Given the description of an element on the screen output the (x, y) to click on. 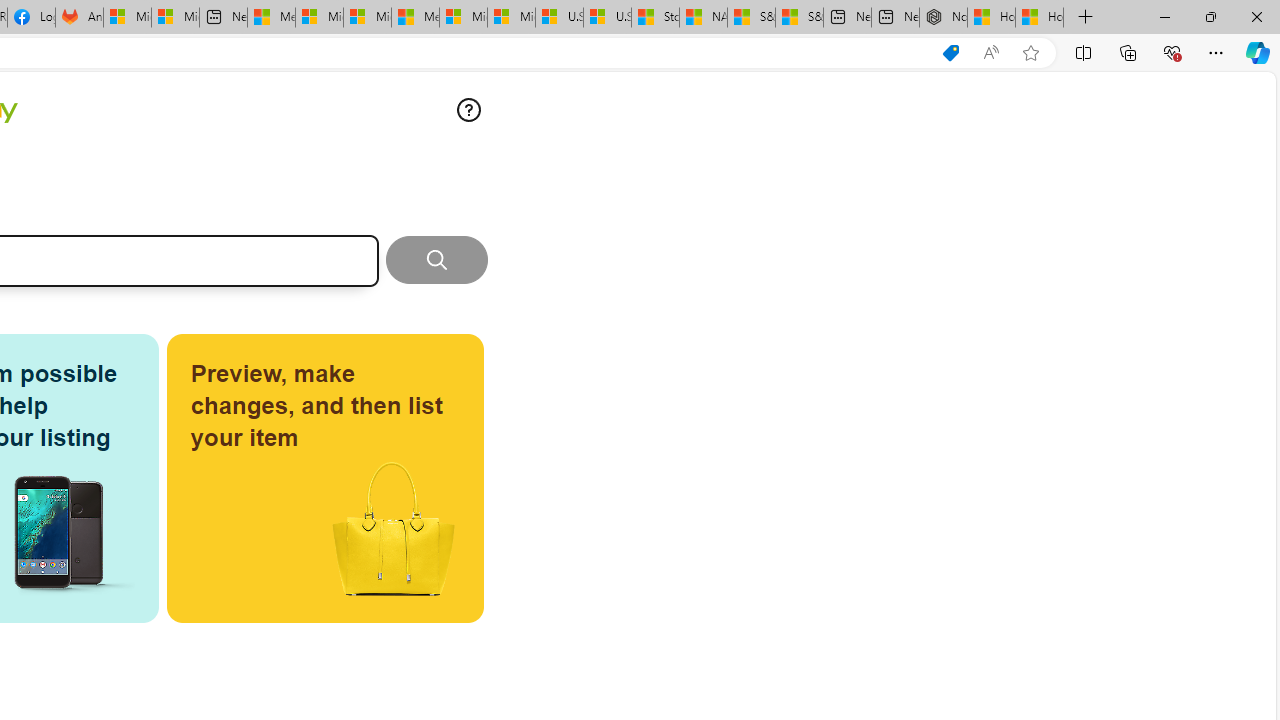
Microsoft account | Home (367, 17)
